Given the description of an element on the screen output the (x, y) to click on. 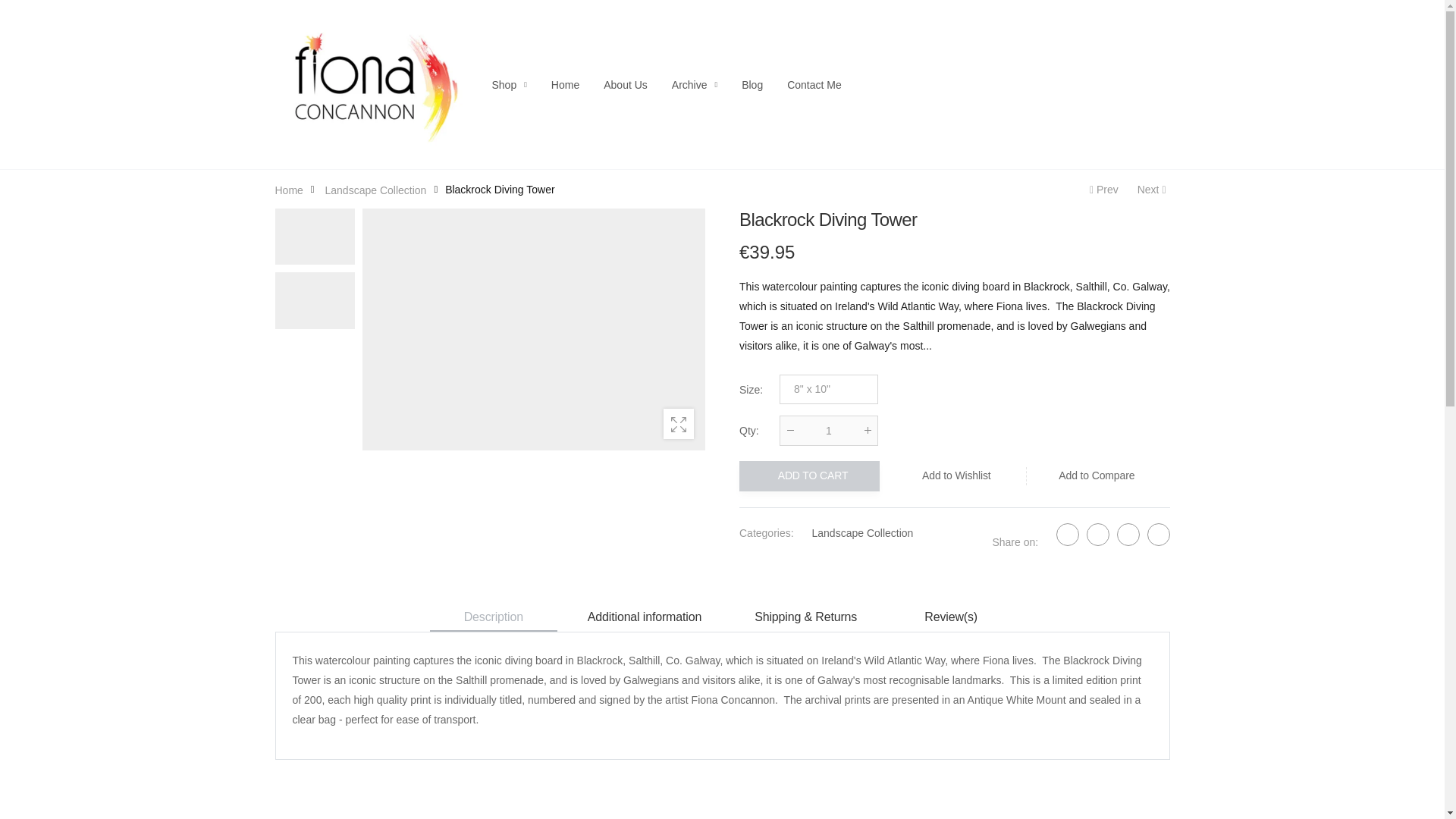
Contact Me (814, 84)
Archive (694, 84)
About Us (625, 84)
Home (288, 189)
Boats moored in Cong (1153, 189)
Aula Maxima - NUIG (1102, 189)
Additional information (643, 618)
1 (827, 429)
View large images in your viewport (678, 423)
Landscape Collection (375, 189)
